Given the description of an element on the screen output the (x, y) to click on. 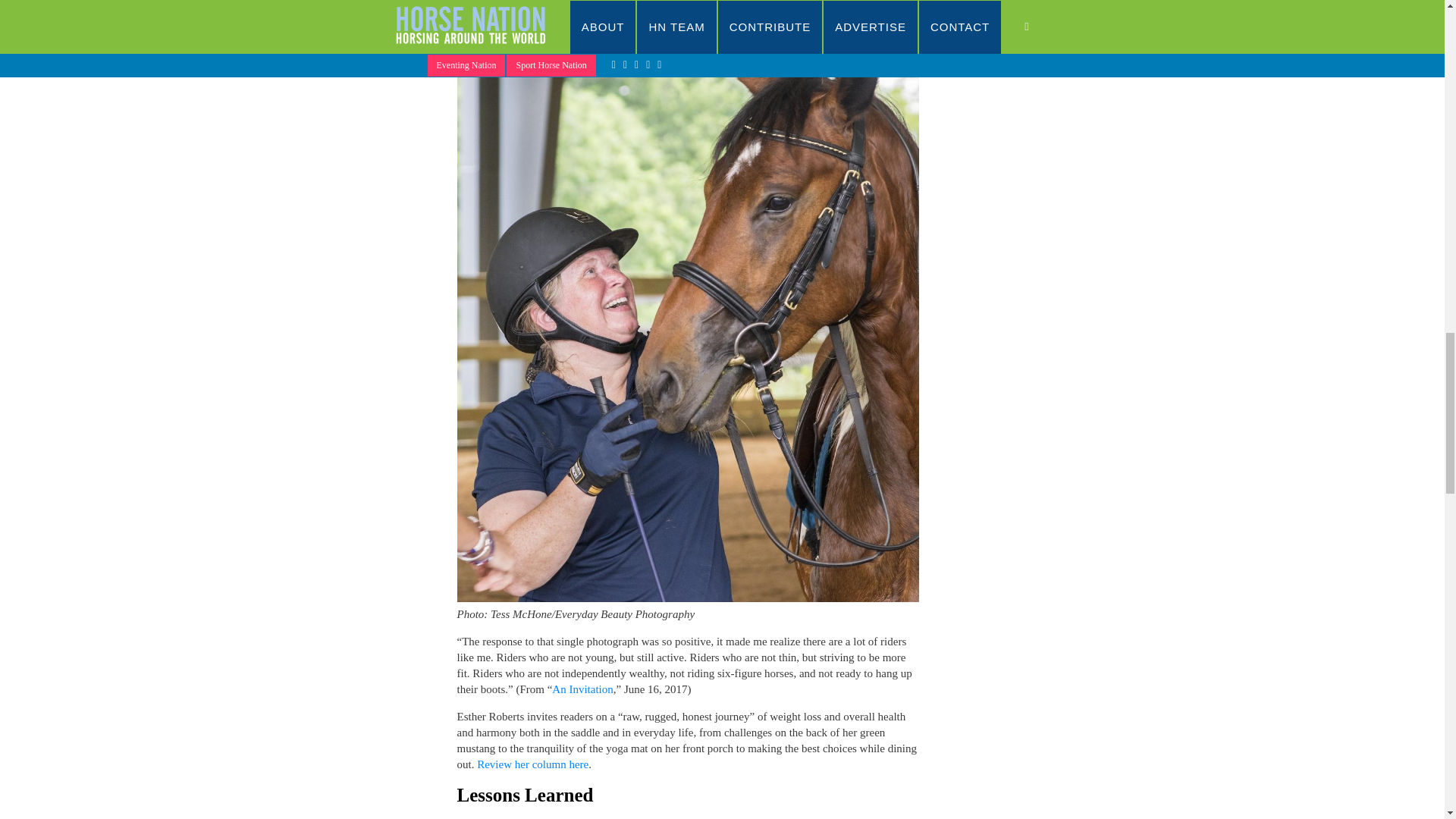
Review her column here (532, 764)
An Invitation (581, 689)
